Given the description of an element on the screen output the (x, y) to click on. 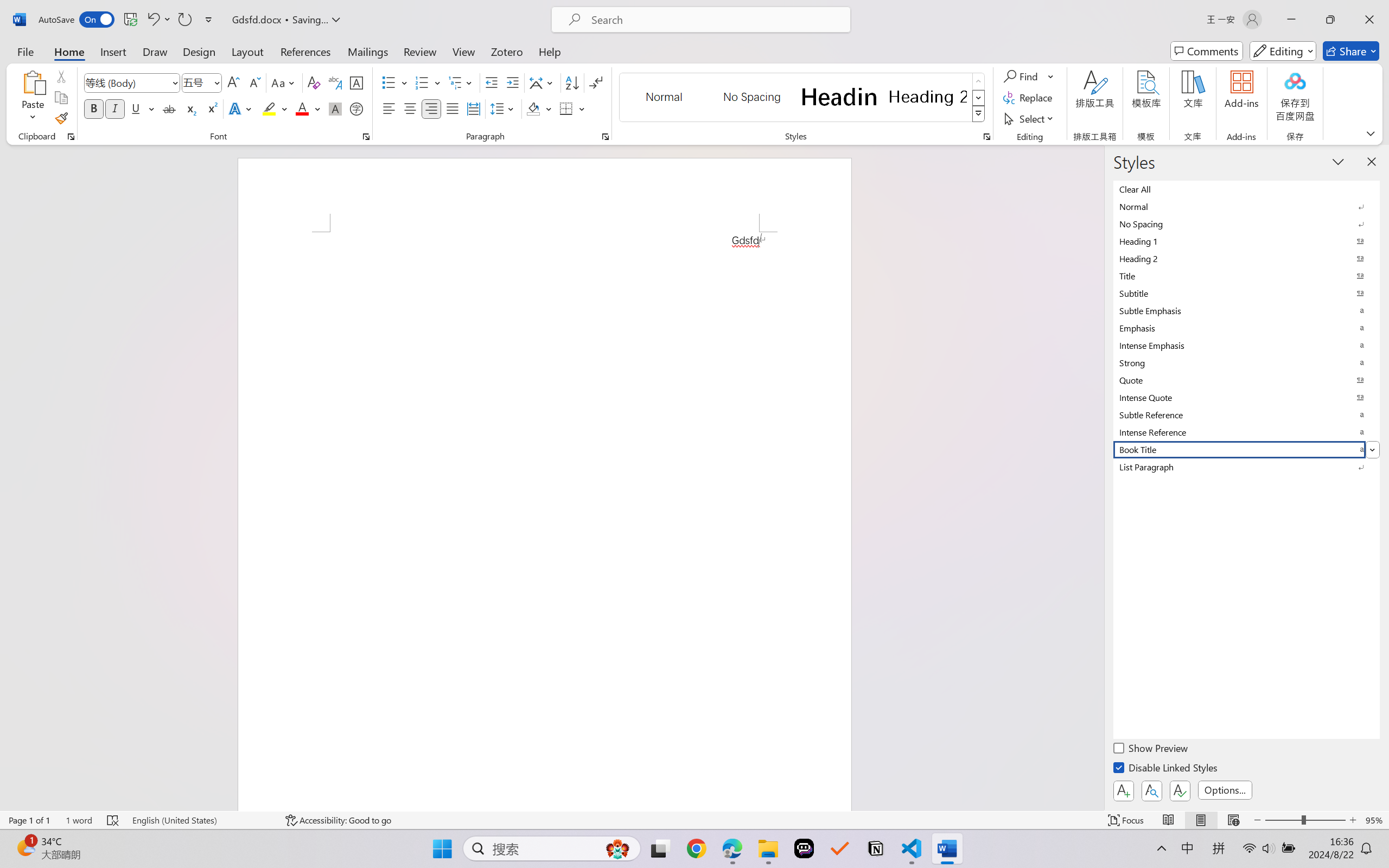
Font... (365, 136)
Intense Quote (1246, 397)
Shrink Font (253, 82)
Clear Formatting (313, 82)
Grow Font (233, 82)
Quote (1246, 379)
Subtle Reference (1246, 414)
Change Case (284, 82)
Intense Emphasis (1246, 345)
